Given the description of an element on the screen output the (x, y) to click on. 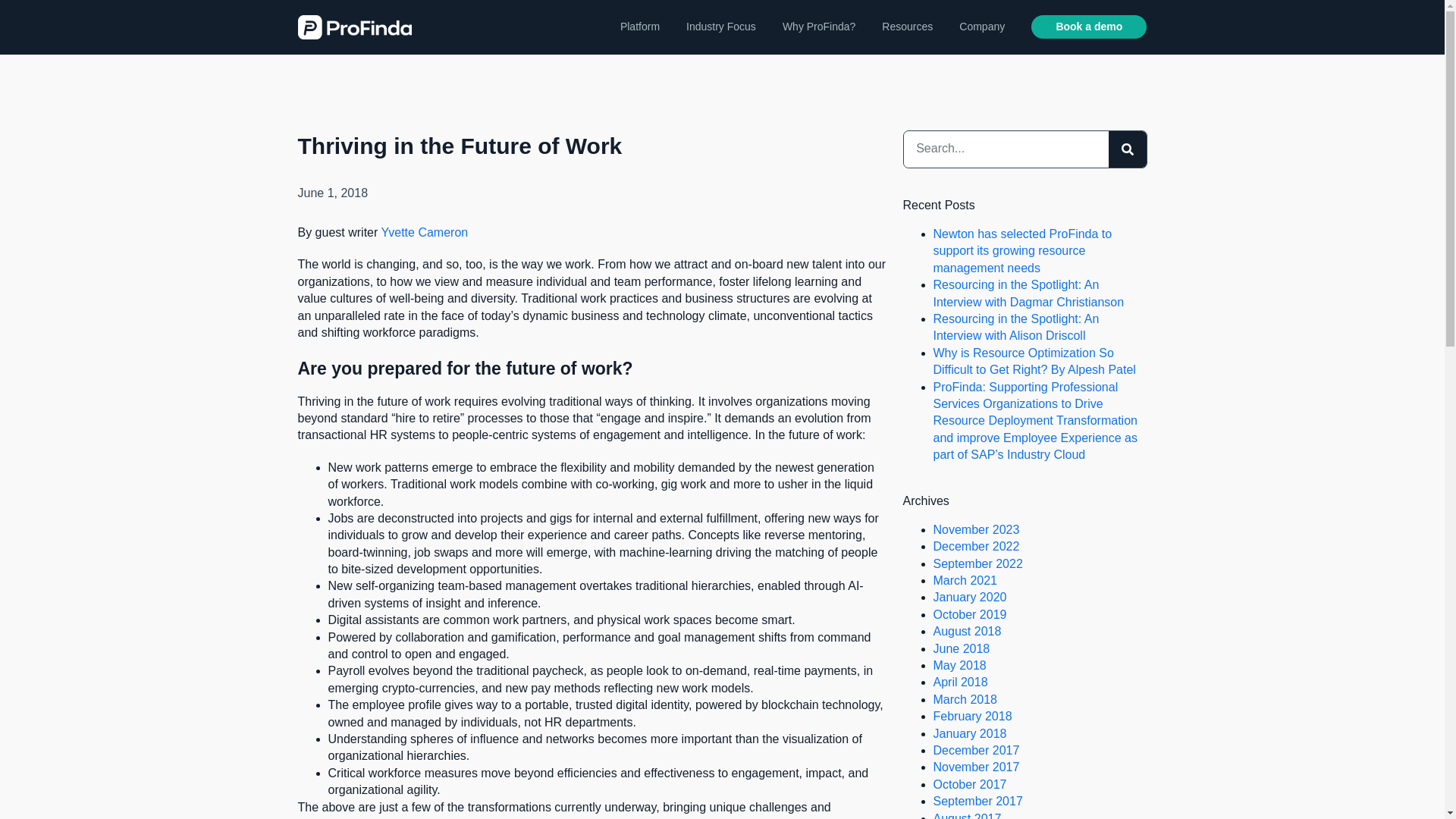
Why ProFinda? (819, 27)
Company (981, 27)
Resources (907, 27)
Platform (639, 27)
Industry Focus (720, 27)
